Given the description of an element on the screen output the (x, y) to click on. 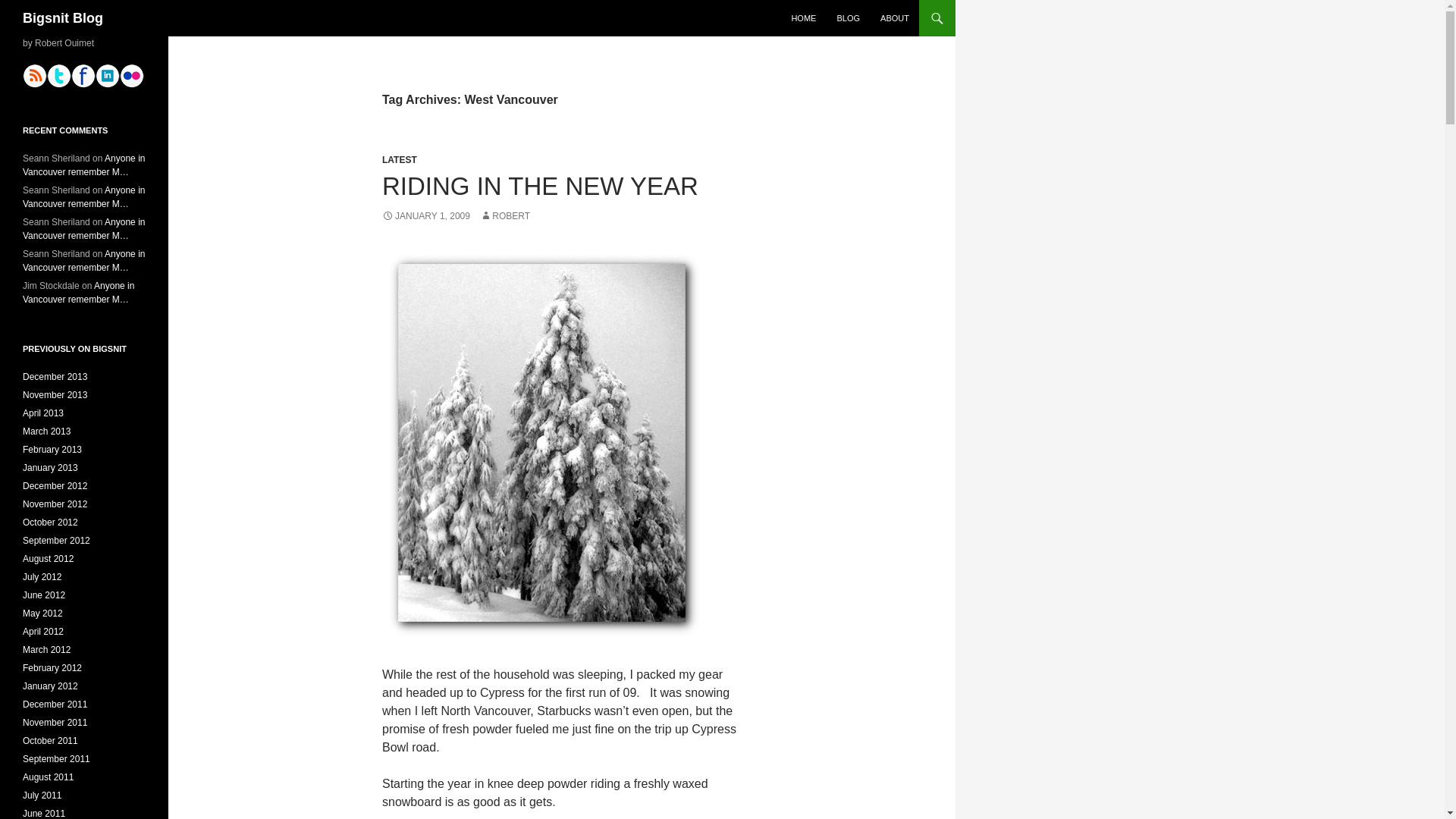
LATEST (398, 159)
ABOUT (894, 18)
HOME (803, 18)
Bigsnit Blog (63, 18)
JANUARY 1, 2009 (425, 215)
RIDING IN THE NEW YEAR (539, 185)
ROBERT (504, 215)
BLOG (848, 18)
